Given the description of an element on the screen output the (x, y) to click on. 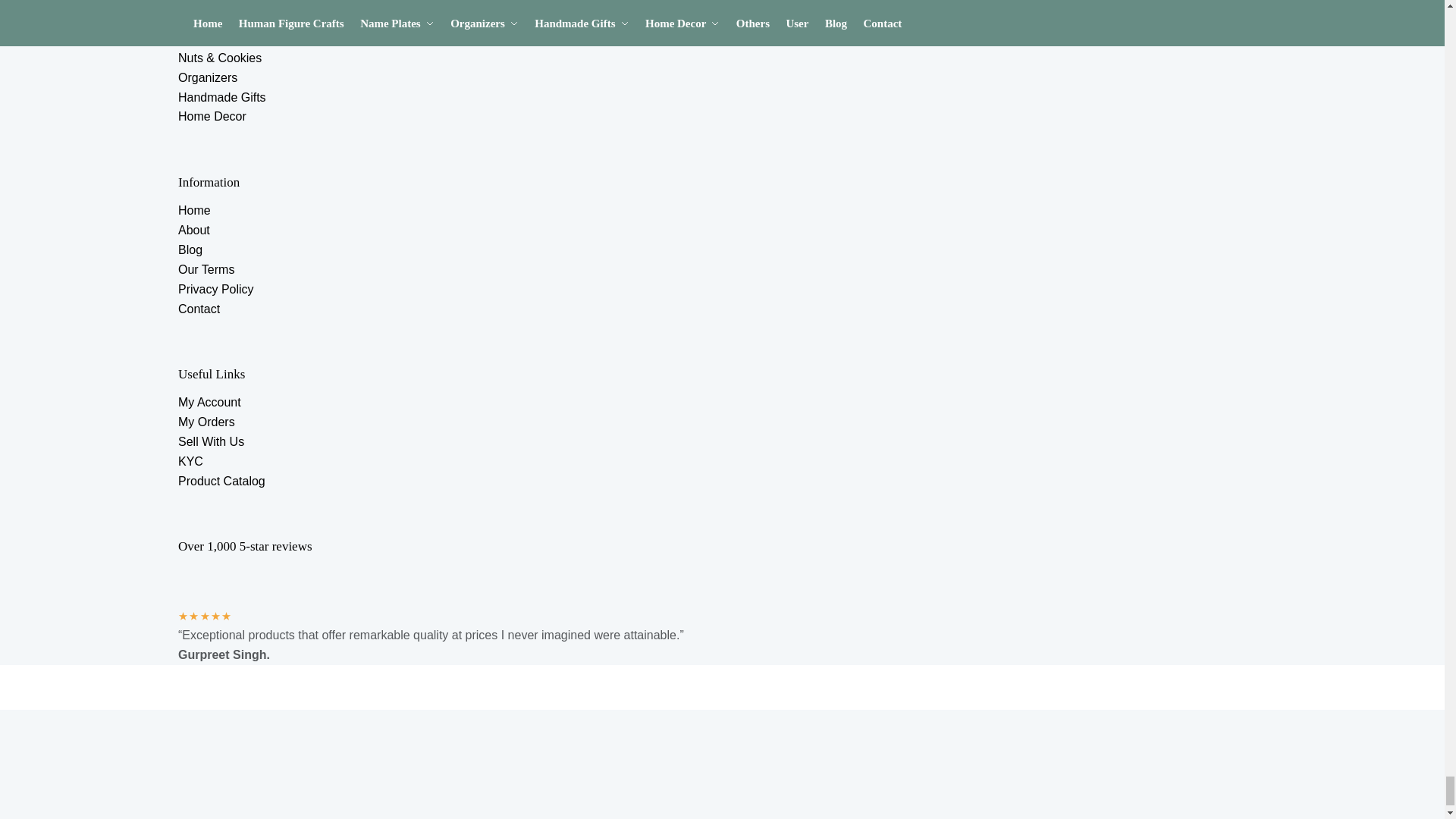
designed by utopian gateway black (329, 725)
PAYMENT SECURITY (321, 802)
